Given the description of an element on the screen output the (x, y) to click on. 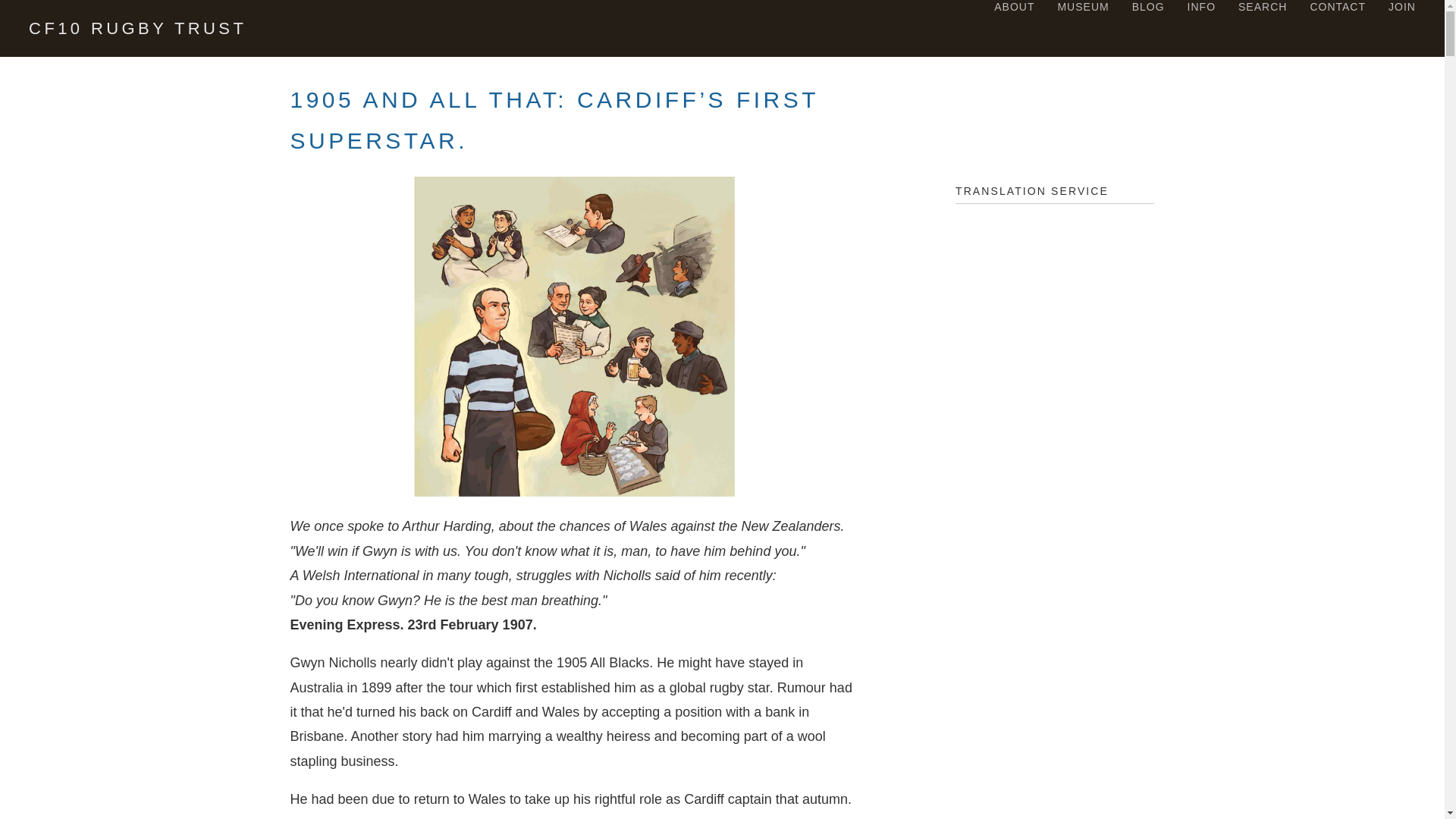
ABOUT (1013, 6)
SEARCH (1263, 6)
CONTACT (1336, 6)
JOIN (1402, 6)
CF10 RUGBY TRUST (137, 28)
INFO (1201, 6)
MUSEUM (1082, 6)
CF10 RUGBY TRUST (137, 28)
BLOG (1148, 6)
